Given the description of an element on the screen output the (x, y) to click on. 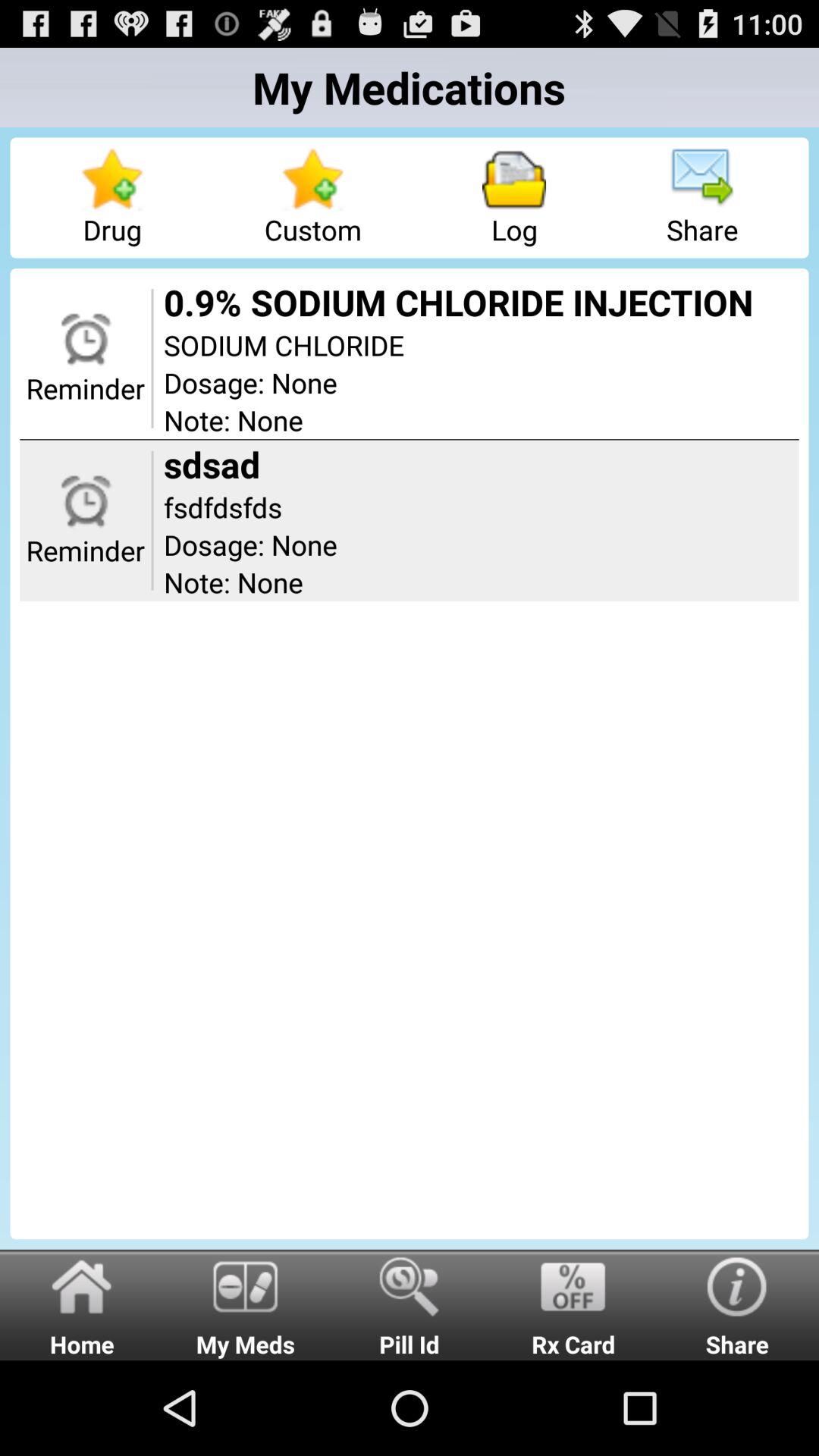
open the item below note: none item (573, 1304)
